Given the description of an element on the screen output the (x, y) to click on. 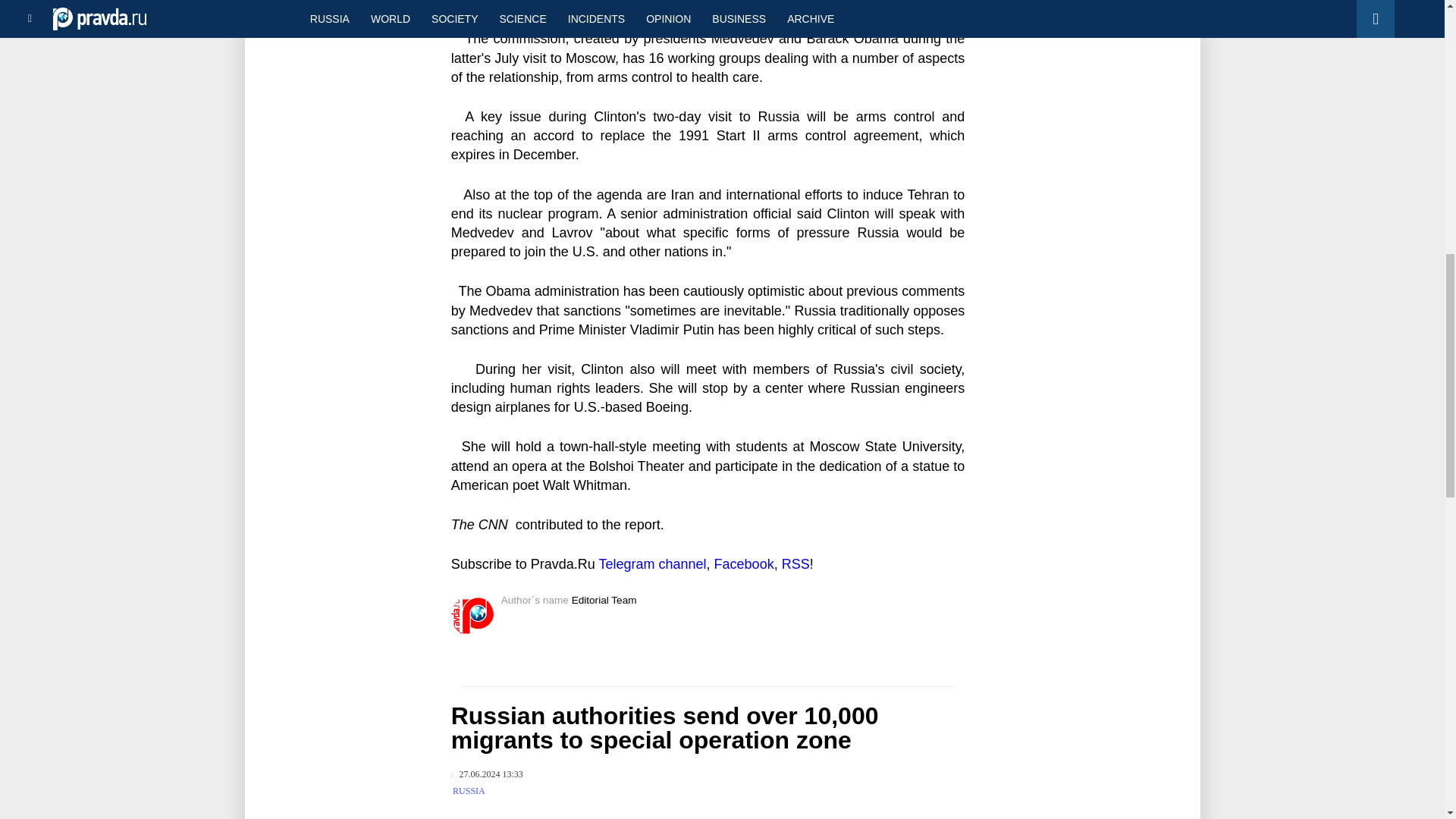
RSS (795, 563)
Facebook (744, 563)
Published (486, 774)
Telegram channel (652, 563)
Editorial Team (604, 600)
RUSSIA (468, 790)
Back to top (1418, 79)
